Given the description of an element on the screen output the (x, y) to click on. 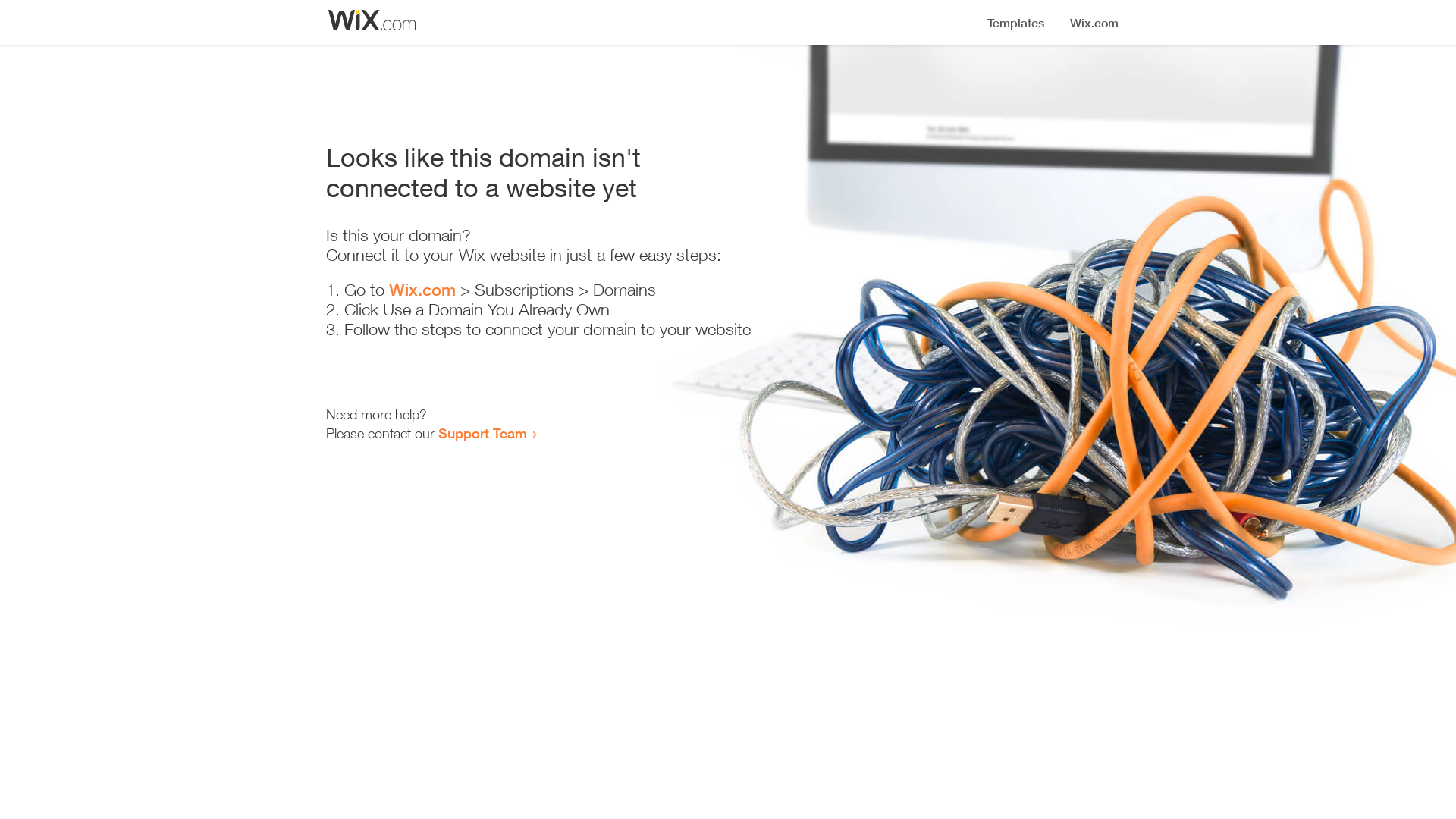
Wix.com Element type: text (422, 289)
Support Team Element type: text (482, 432)
